Given the description of an element on the screen output the (x, y) to click on. 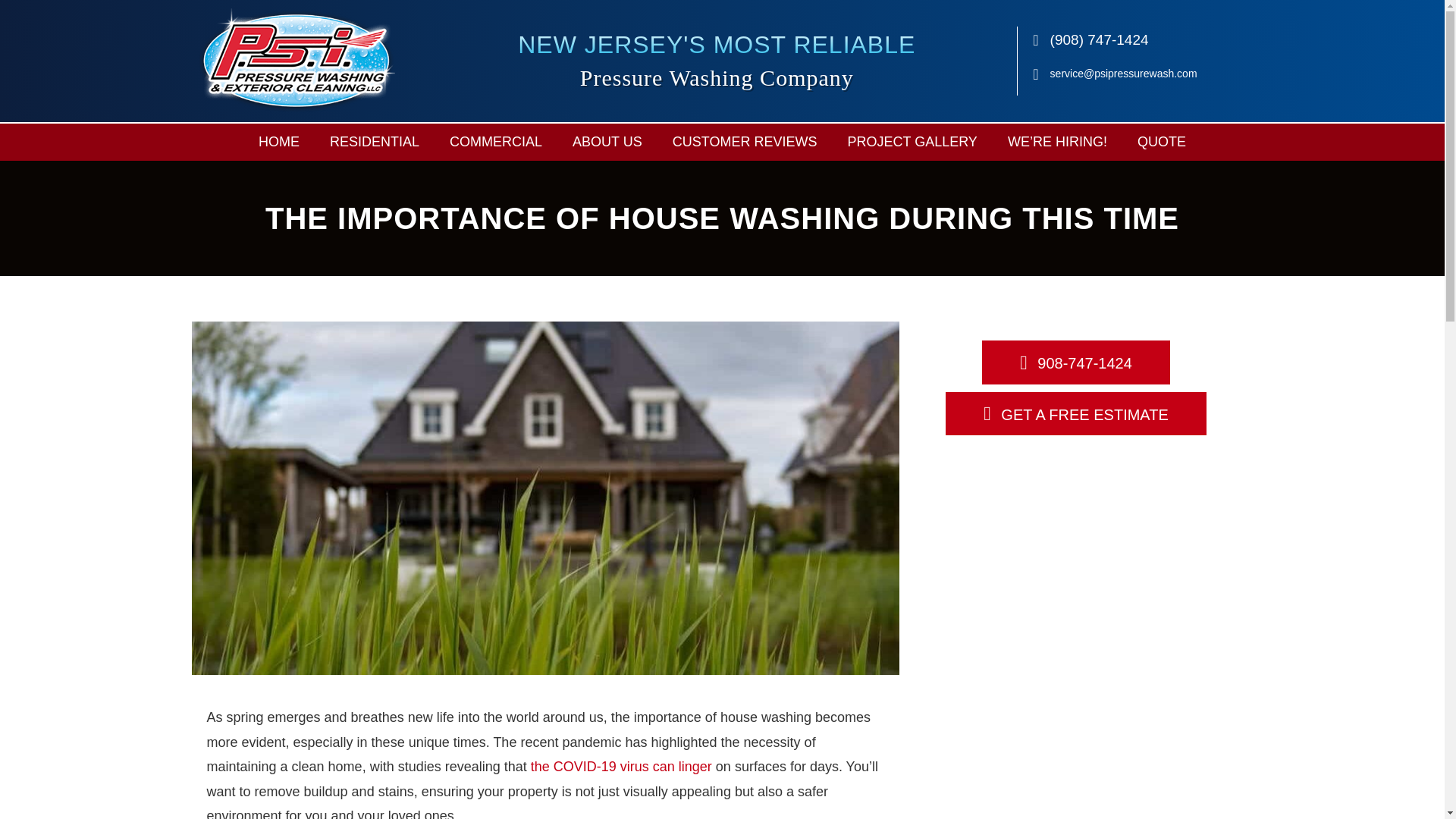
COMMERCIAL (495, 141)
HOME (278, 141)
CUSTOMER REVIEWS (745, 141)
QUOTE (1161, 141)
RESIDENTIAL (373, 141)
ABOUT US (607, 141)
PROJECT GALLERY (911, 141)
